Given the description of an element on the screen output the (x, y) to click on. 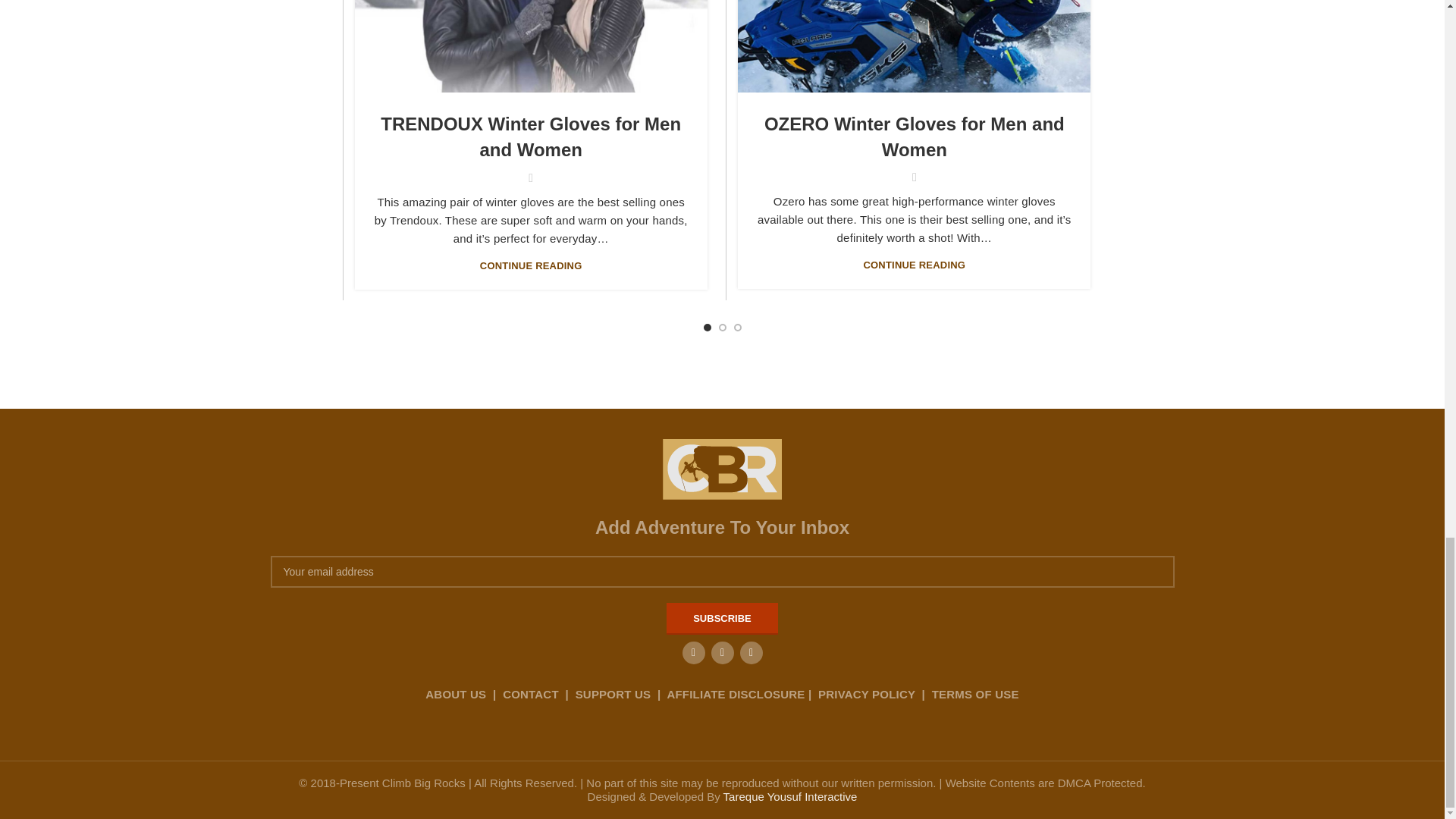
Subscribe (721, 618)
